Given the description of an element on the screen output the (x, y) to click on. 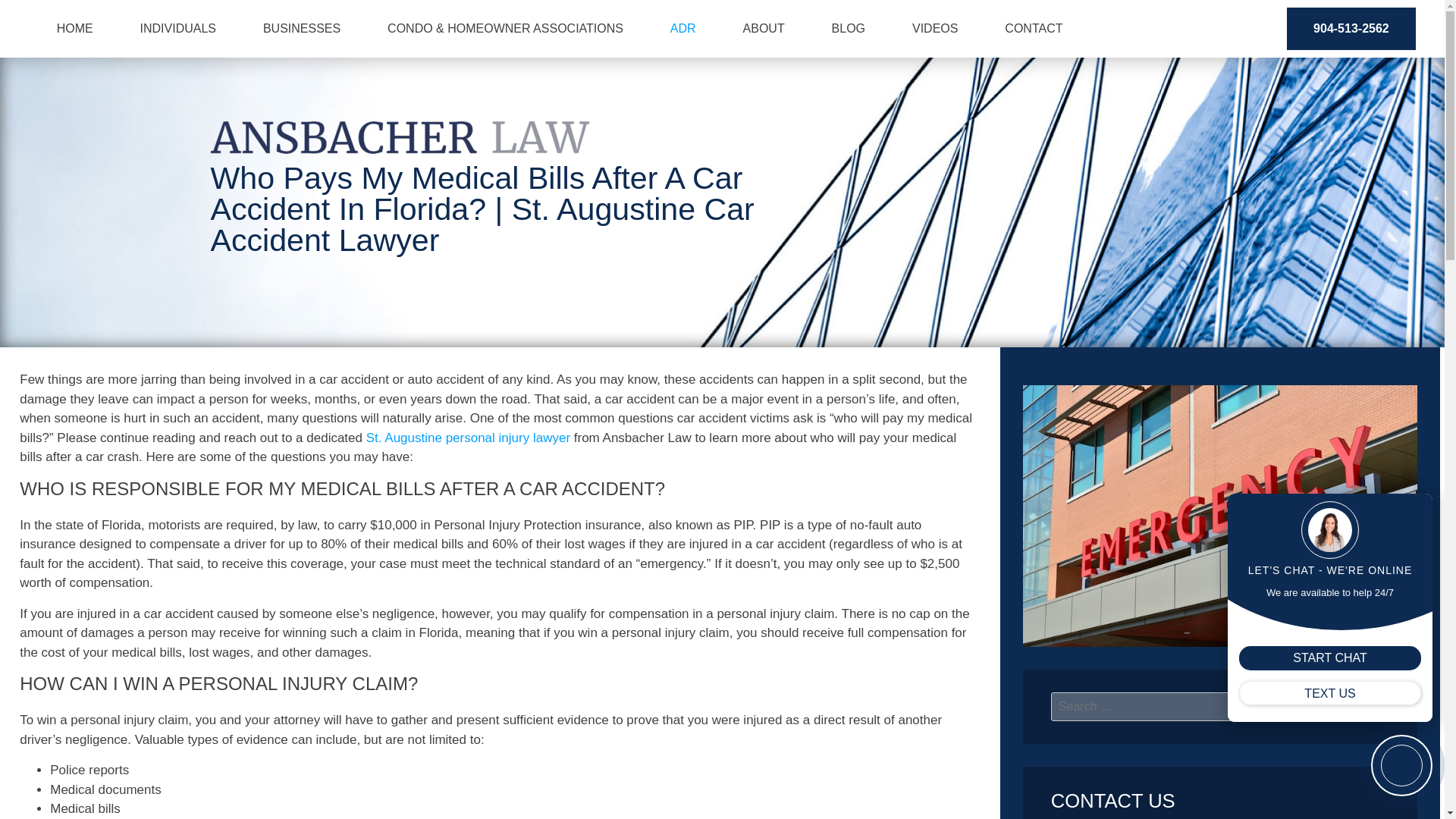
Search (1358, 706)
Search (1358, 706)
